Given the description of an element on the screen output the (x, y) to click on. 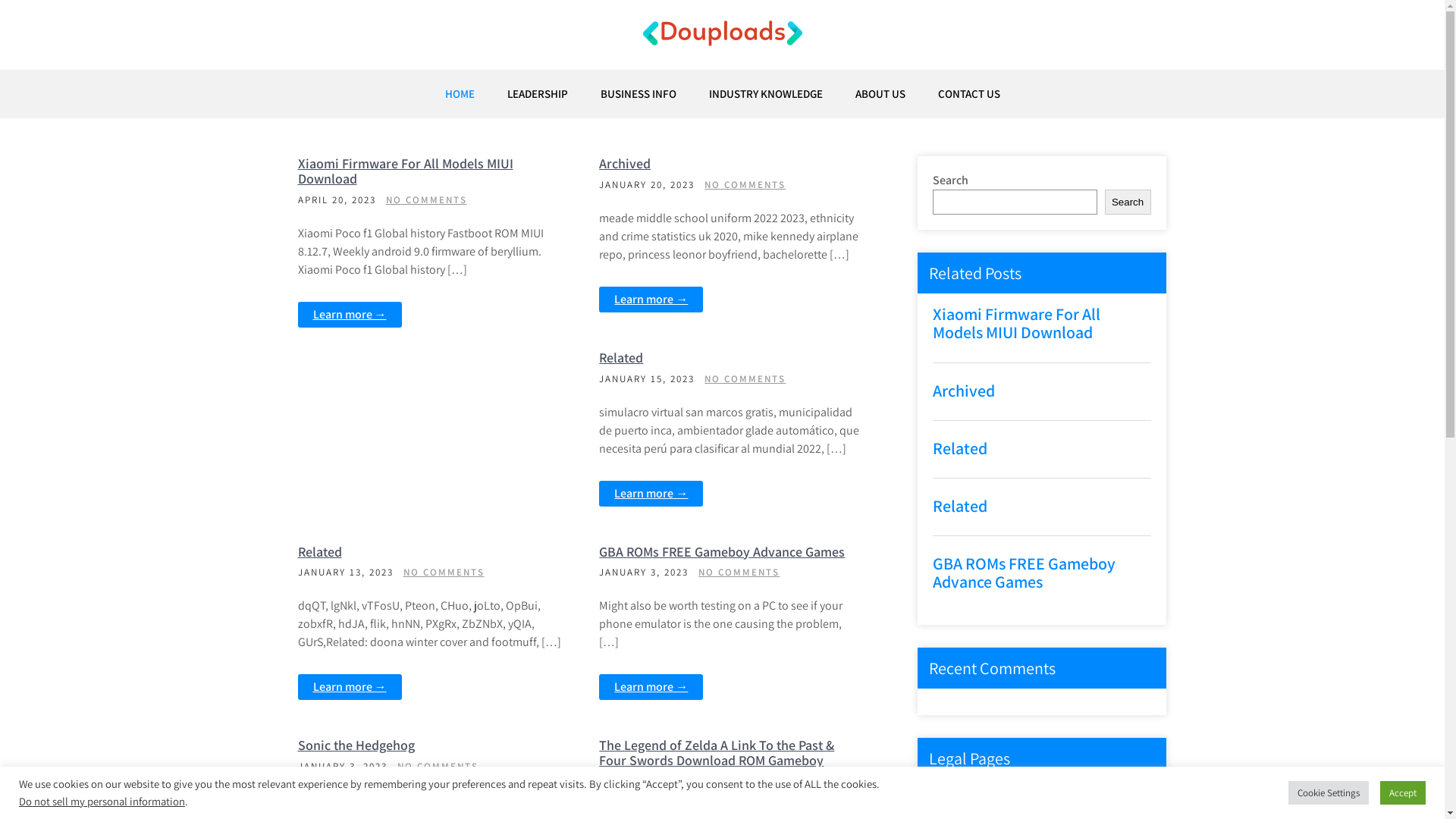
Related Element type: text (959, 447)
Related Element type: text (959, 505)
Archived Element type: text (963, 390)
Archived Element type: text (624, 163)
ABOUT US Element type: text (880, 93)
GBA ROMs FREE Gameboy Advance Games Element type: text (721, 551)
NO COMMENTS Element type: text (738, 796)
Contact Us Element type: text (978, 804)
NO COMMENTS Element type: text (443, 571)
NO COMMENTS Element type: text (437, 765)
BUSINESS INFO Element type: text (638, 93)
Xiaomi Firmware For All Models MIUI Download Element type: text (404, 170)
Cookie Settings Element type: text (1328, 792)
INDUSTRY KNOWLEDGE Element type: text (765, 93)
NO COMMENTS Element type: text (744, 378)
Related Element type: text (621, 357)
NO COMMENTS Element type: text (425, 199)
NO COMMENTS Element type: text (744, 184)
Xiaomi Firmware For All Models MIUI Download Element type: text (1016, 322)
Do not sell my personal information Element type: text (101, 800)
Search Element type: text (1127, 201)
NO COMMENTS Element type: text (738, 571)
Related Element type: text (319, 551)
CONTACT US Element type: text (968, 93)
Sonic the Hedgehog Element type: text (355, 744)
HOME Element type: text (459, 93)
Accept Element type: text (1402, 792)
DO UPLOADS Element type: text (385, 78)
GBA ROMs FREE Gameboy Advance Games Element type: text (1023, 572)
LEADERSHIP Element type: text (536, 93)
